Given the description of an element on the screen output the (x, y) to click on. 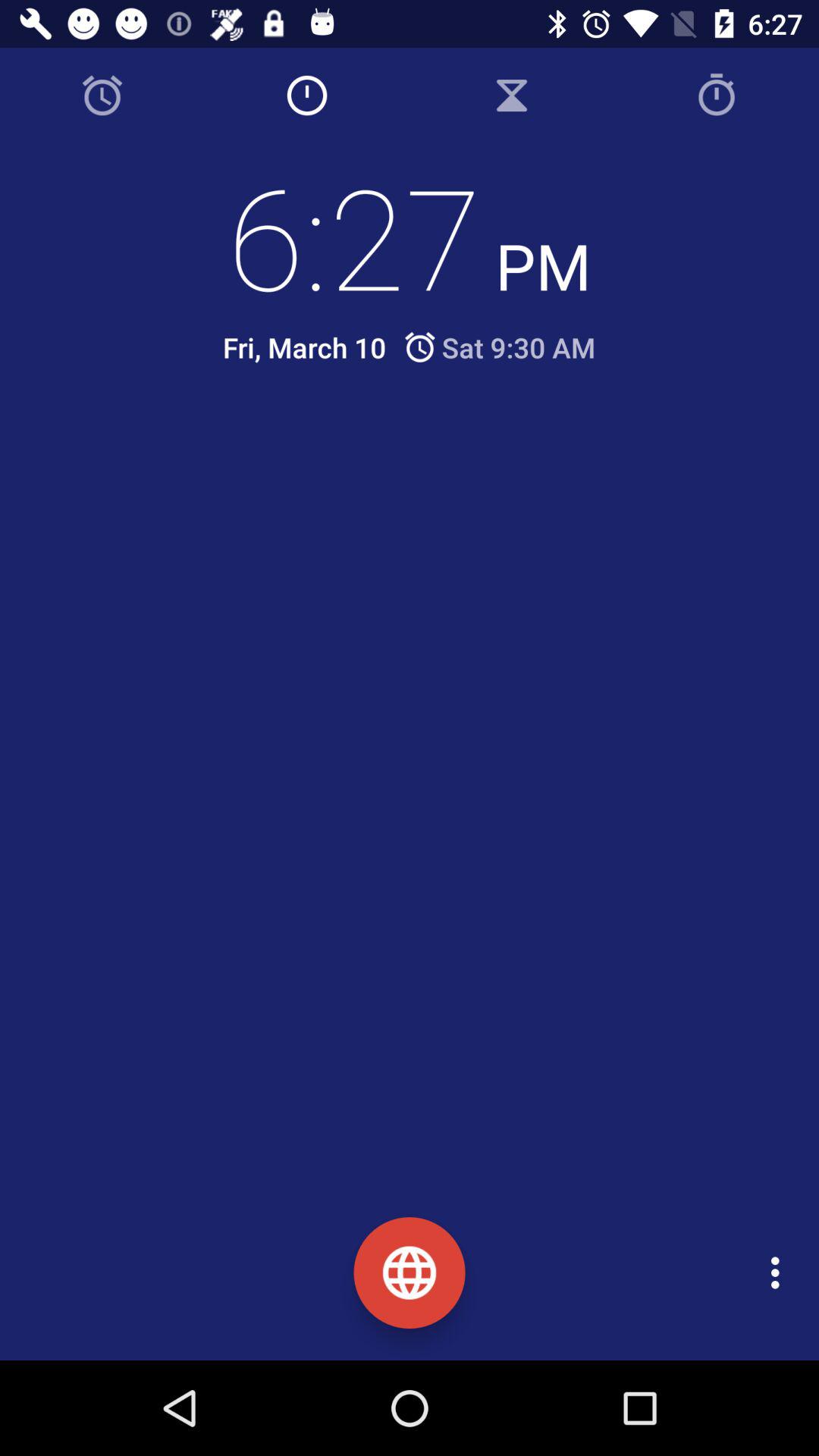
launch icon above the fri, march 10 icon (409, 235)
